Given the description of an element on the screen output the (x, y) to click on. 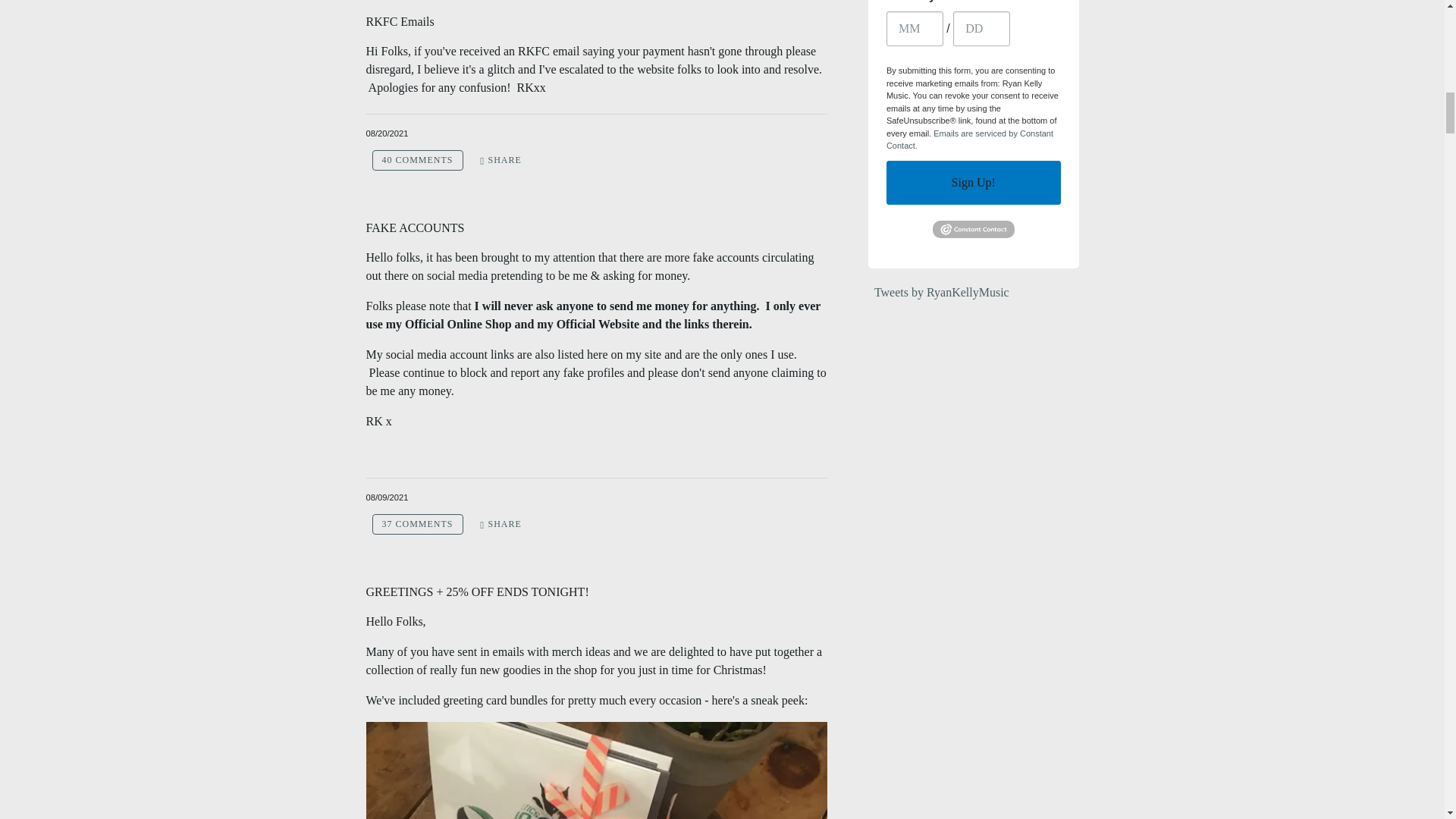
FAKE ACCOUNTS (414, 227)
37 COMMENTS (417, 524)
SHARE (500, 524)
RKFC Emails (399, 21)
August 09, 2021 11:16 (386, 497)
Share FAKE ACCOUNTS (500, 524)
40 COMMENTS (417, 159)
40 comments (417, 159)
37 comments (417, 524)
SHARE (500, 159)
August 20, 2021 14:36 (386, 133)
Share RKFC Emails (500, 159)
